Given the description of an element on the screen output the (x, y) to click on. 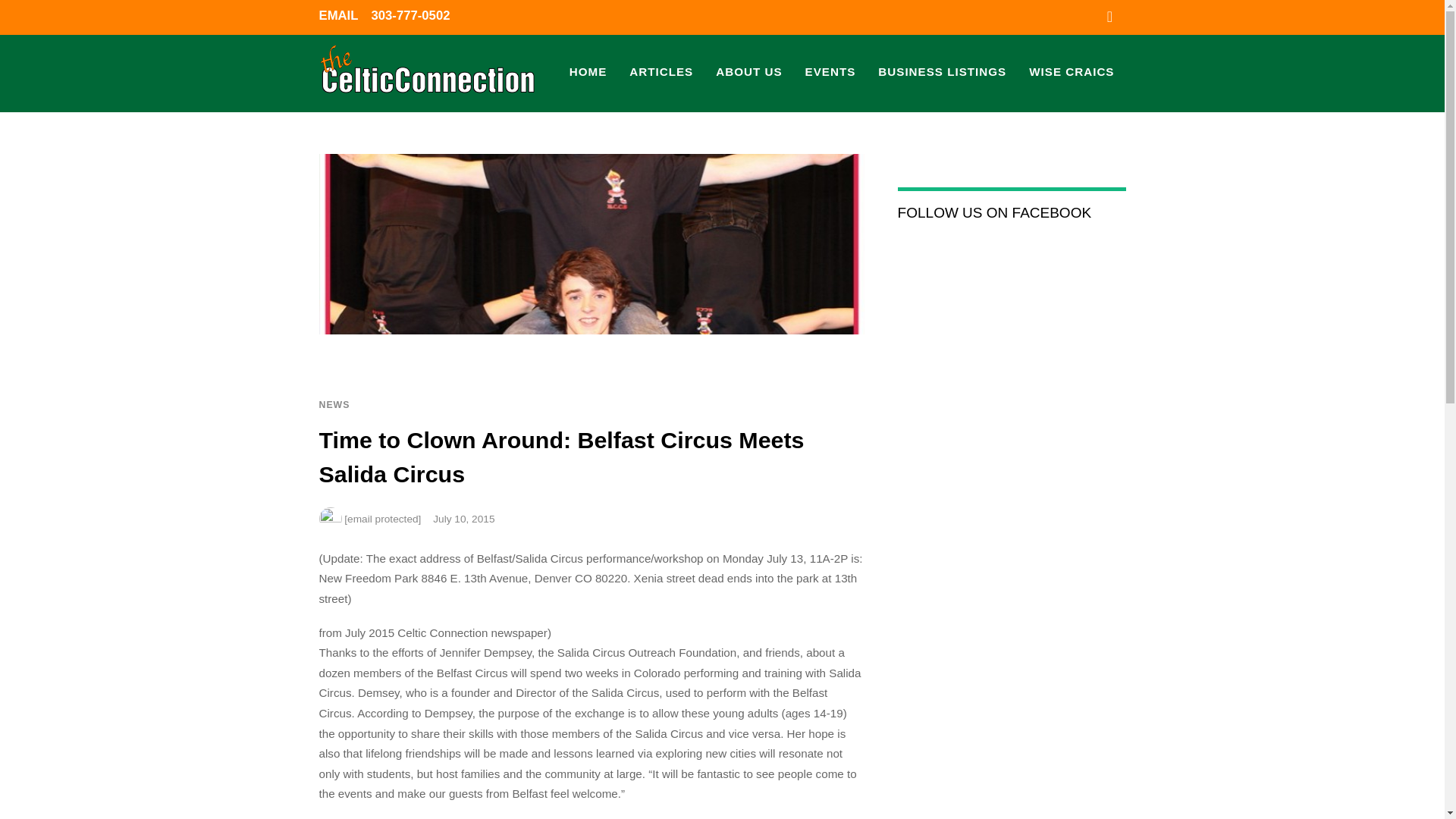
EVENTS (830, 72)
HOME (587, 72)
WISE CRAICS (1071, 72)
Time to Clown Around: Belfast Circus Meets Salida Circus (560, 455)
Facebook (1110, 15)
303-777-0502 (410, 15)
Celtic Connection (427, 70)
ARTICLES (660, 72)
Time to Clown Around:  Belfast Circus Meets Salida Circus (560, 455)
BUSINESS LISTINGS (941, 72)
